Given the description of an element on the screen output the (x, y) to click on. 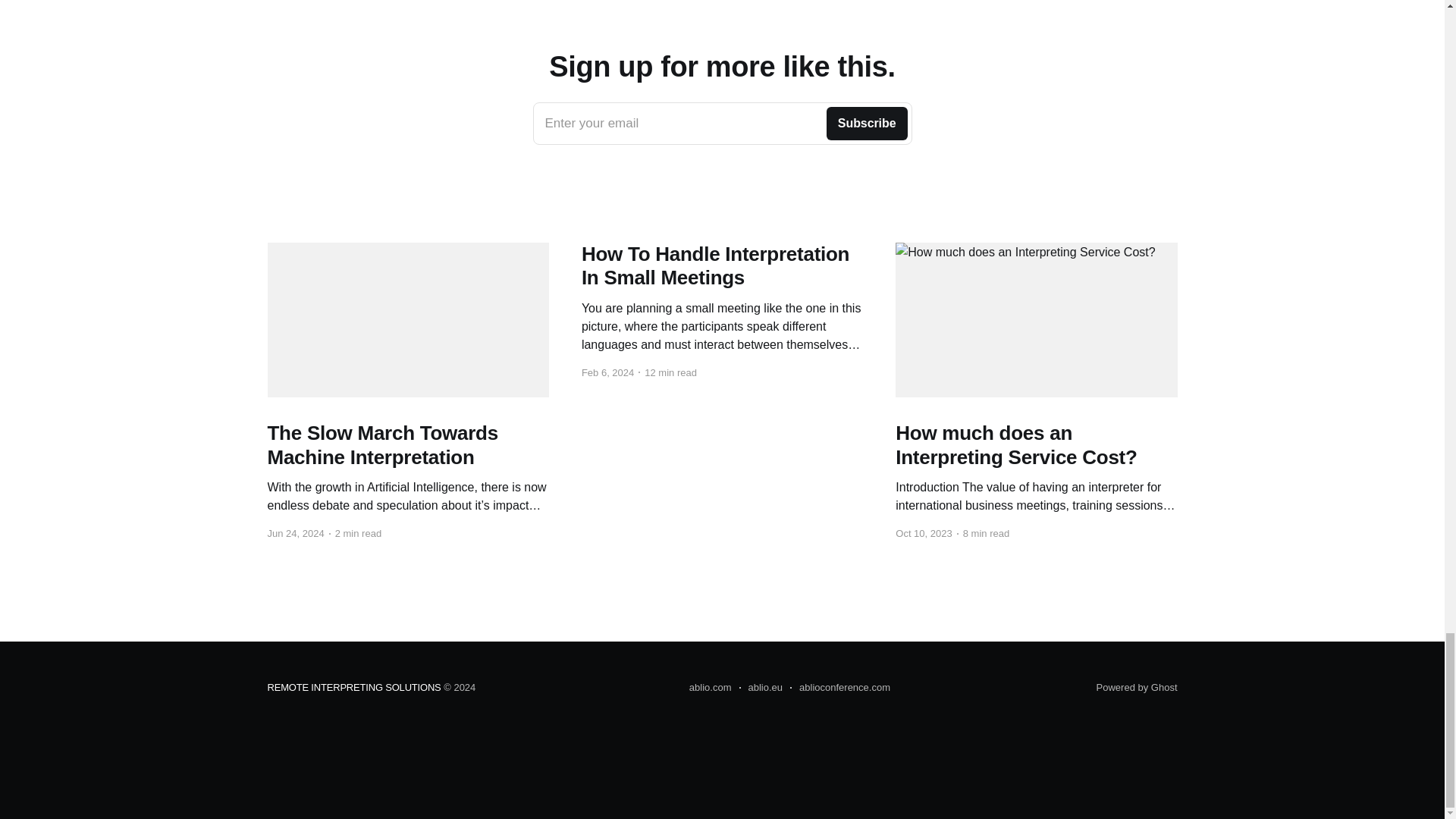
REMOTE INTERPRETING SOLUTIONS (353, 686)
Powered by Ghost (721, 123)
ablio.eu (1136, 686)
ablioconference.com (760, 687)
ablio.com (839, 687)
